Given the description of an element on the screen output the (x, y) to click on. 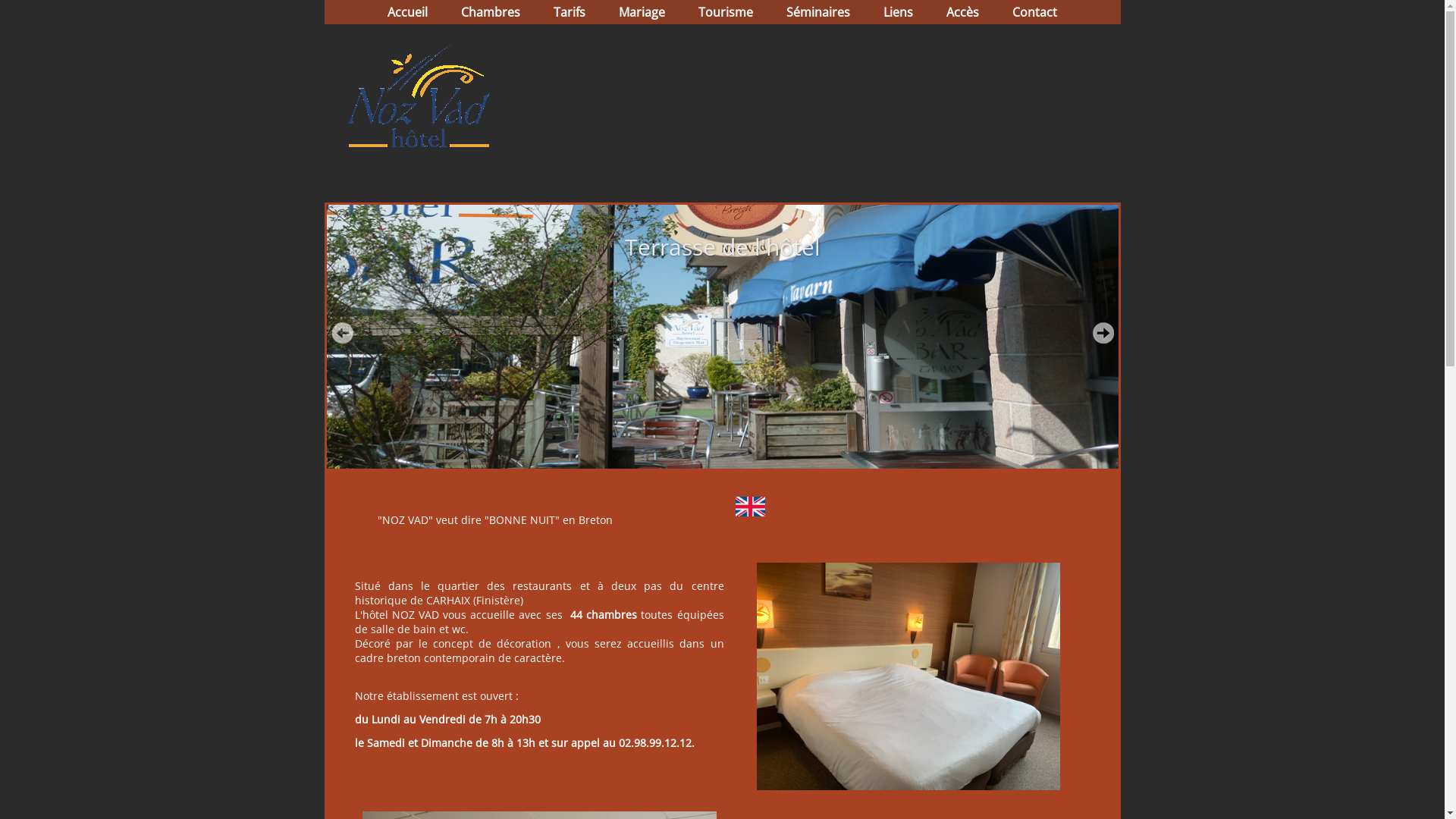
Tourisme Element type: text (725, 12)
Mariage Element type: text (641, 12)
Accueil Element type: text (407, 12)
Contact Element type: text (1034, 12)
Chambres Element type: text (490, 12)
Liens Element type: text (897, 12)
Tarifs Element type: text (569, 12)
< Element type: text (341, 332)
> Element type: text (1103, 332)
